Given the description of an element on the screen output the (x, y) to click on. 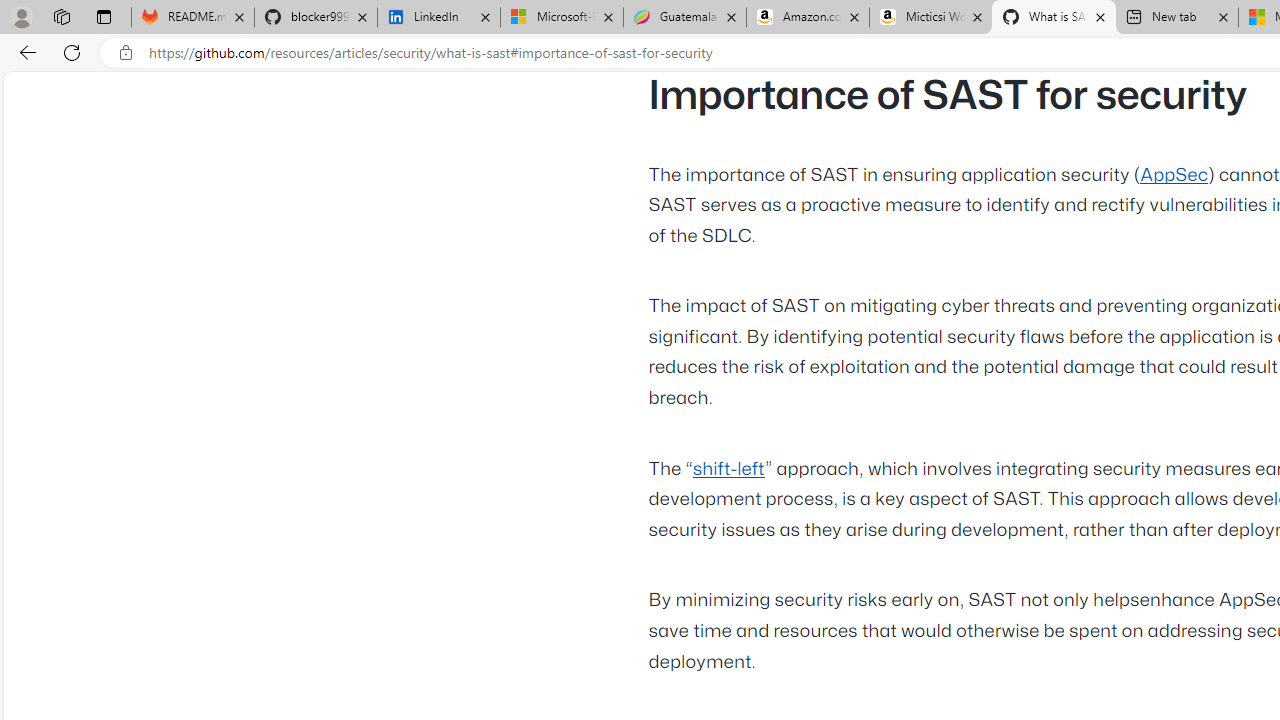
AppSec (1174, 175)
LinkedIn (438, 17)
